Given the description of an element on the screen output the (x, y) to click on. 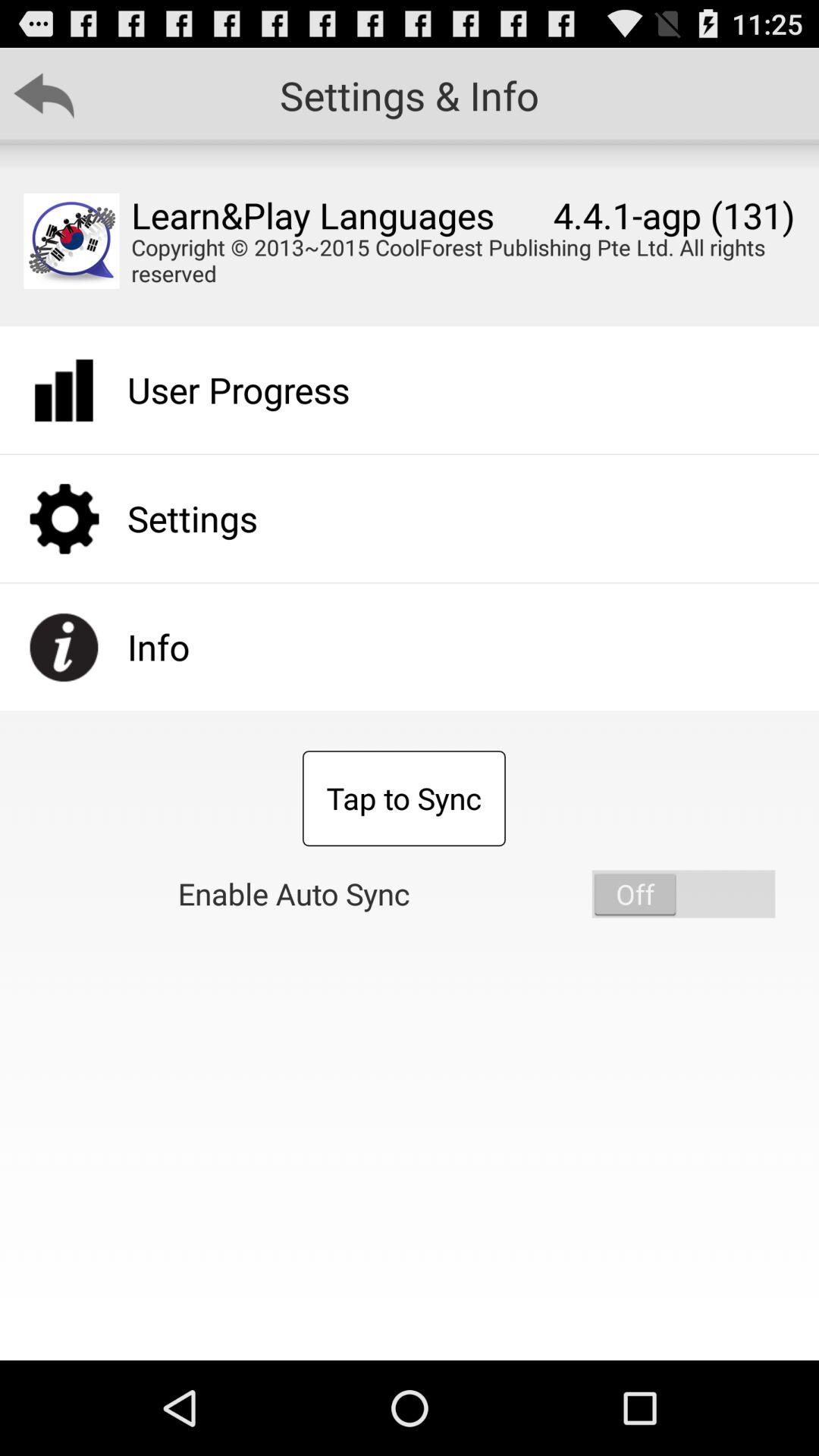
turn off auto sync (683, 893)
